Given the description of an element on the screen output the (x, y) to click on. 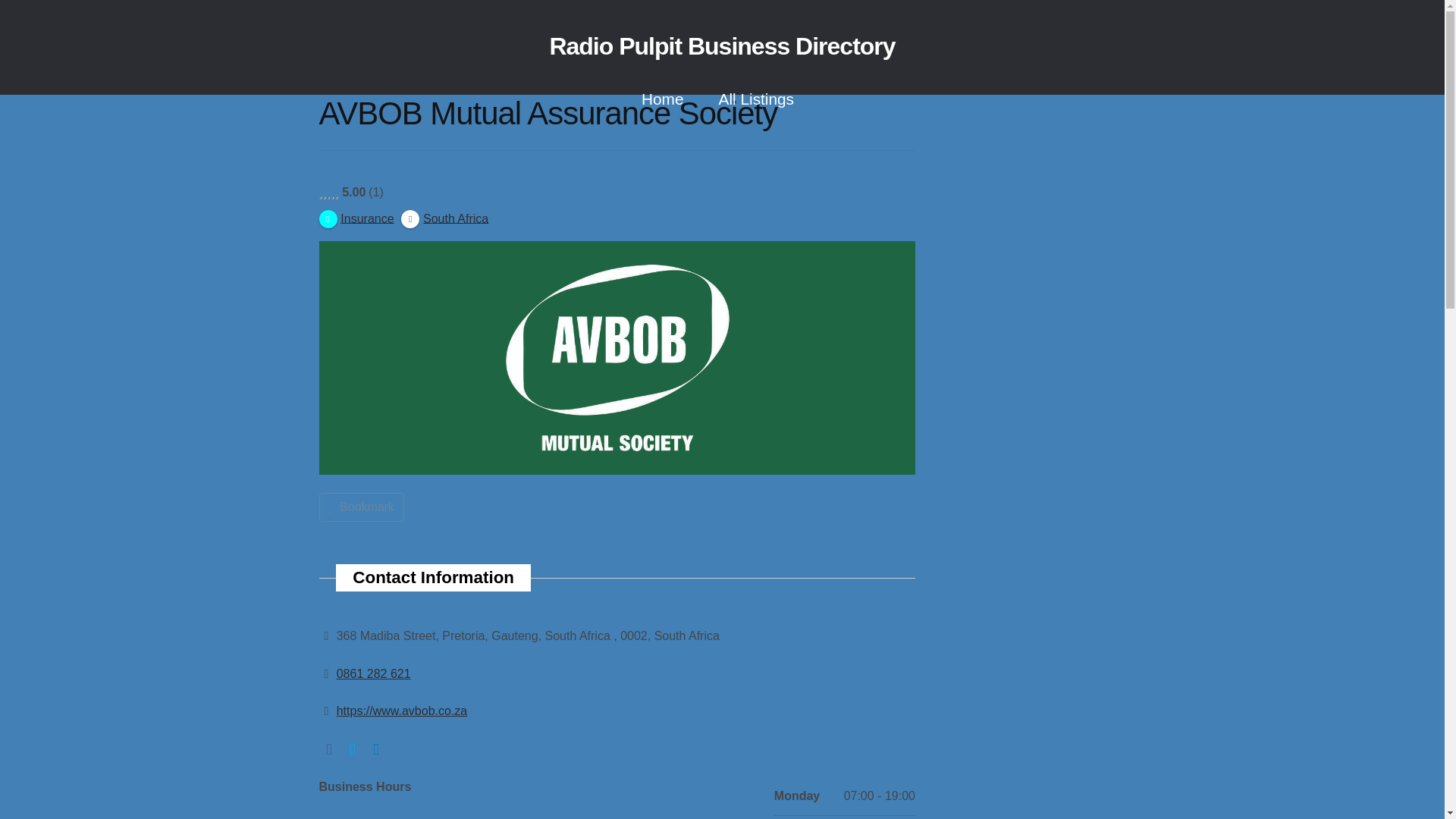
LinkedIn (376, 748)
All Listings (756, 99)
Bookmark (361, 507)
0861 282 621 (373, 673)
Facebook (328, 748)
Twitter (352, 748)
South Africa (444, 217)
Home (662, 99)
Insurance (356, 217)
South Africa (444, 217)
Insurance (356, 217)
Radio Pulpit Business Directory (721, 45)
Radio Pulpit Business Directory (740, 137)
